Given the description of an element on the screen output the (x, y) to click on. 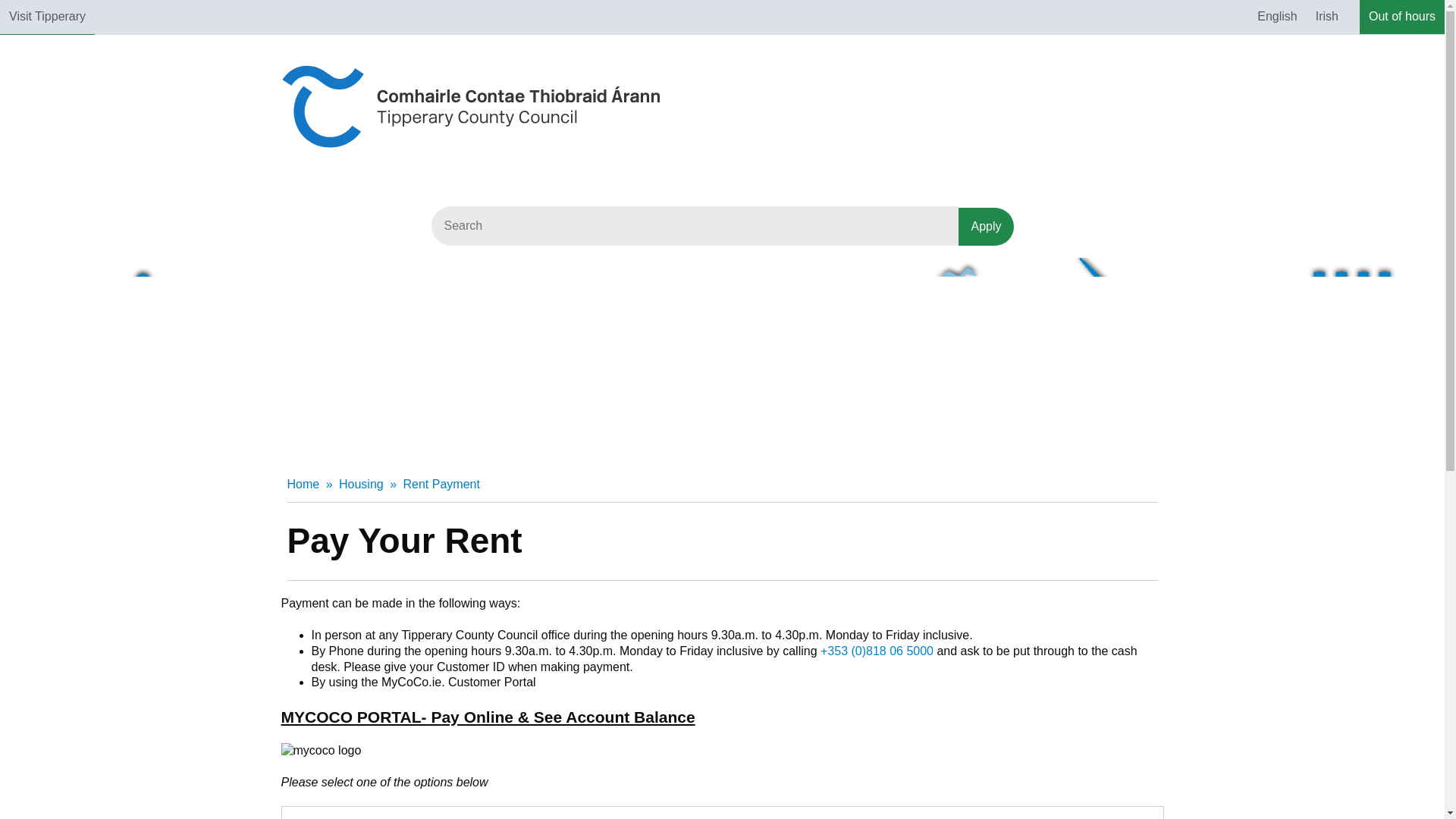
English (1276, 17)
Irish (1327, 17)
Apply (985, 226)
Skip to main content (12, 12)
Housing (361, 483)
Apply (985, 226)
Visit Tipperary (47, 17)
Home (302, 483)
Rent Payment (441, 483)
